Given the description of an element on the screen output the (x, y) to click on. 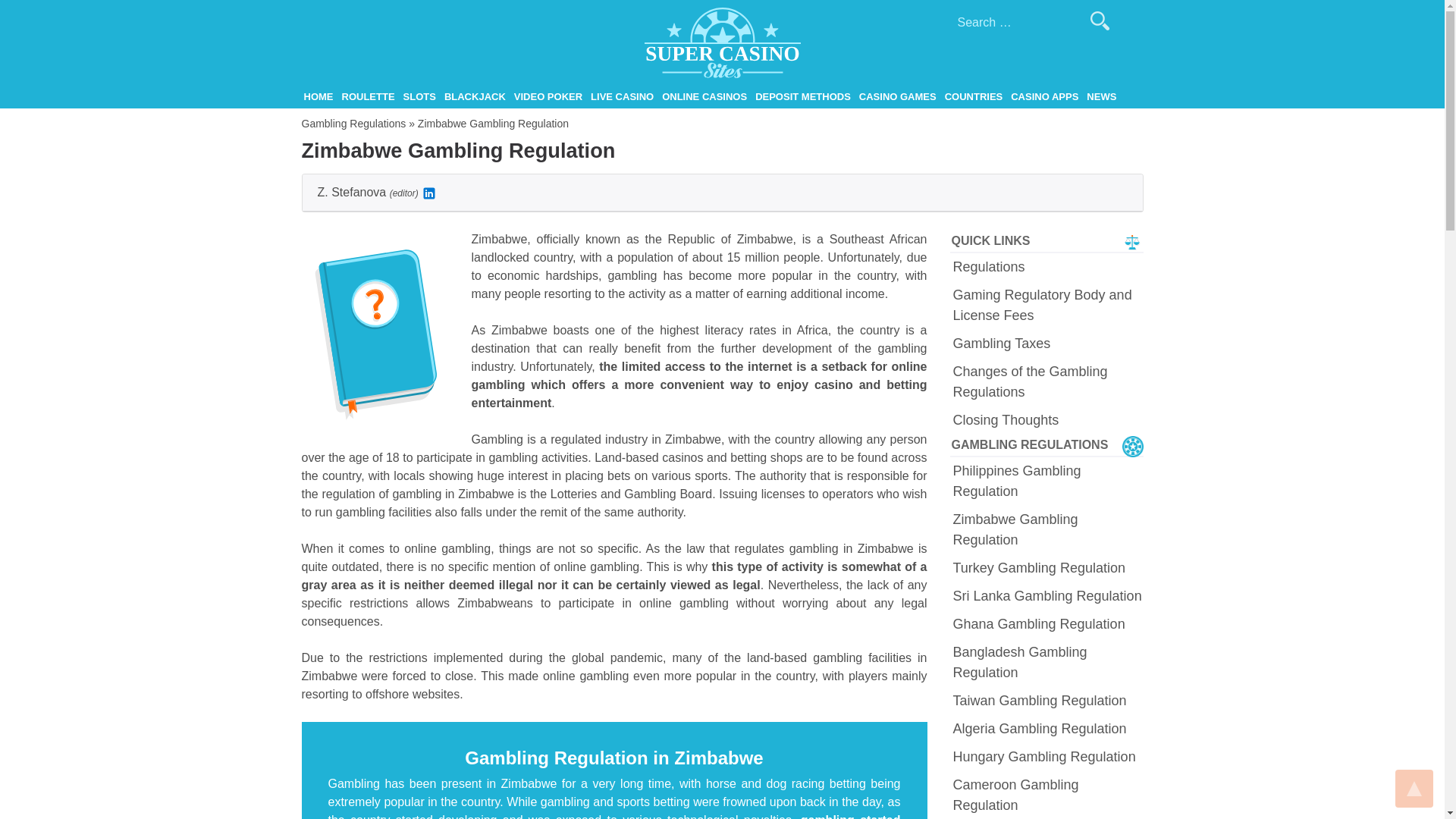
Super Casino Sites (353, 93)
Gambling Regulations (353, 122)
LIVE CASINO (622, 96)
ROULETTE (368, 96)
DEPOSIT METHODS (802, 96)
Philippines Gambling Regulation (1047, 481)
CASINO GAMES (898, 96)
Gaming Regulatory Body and License Fees (1047, 305)
ONLINE CASINOS (704, 96)
Regulations (1047, 267)
